Given the description of an element on the screen output the (x, y) to click on. 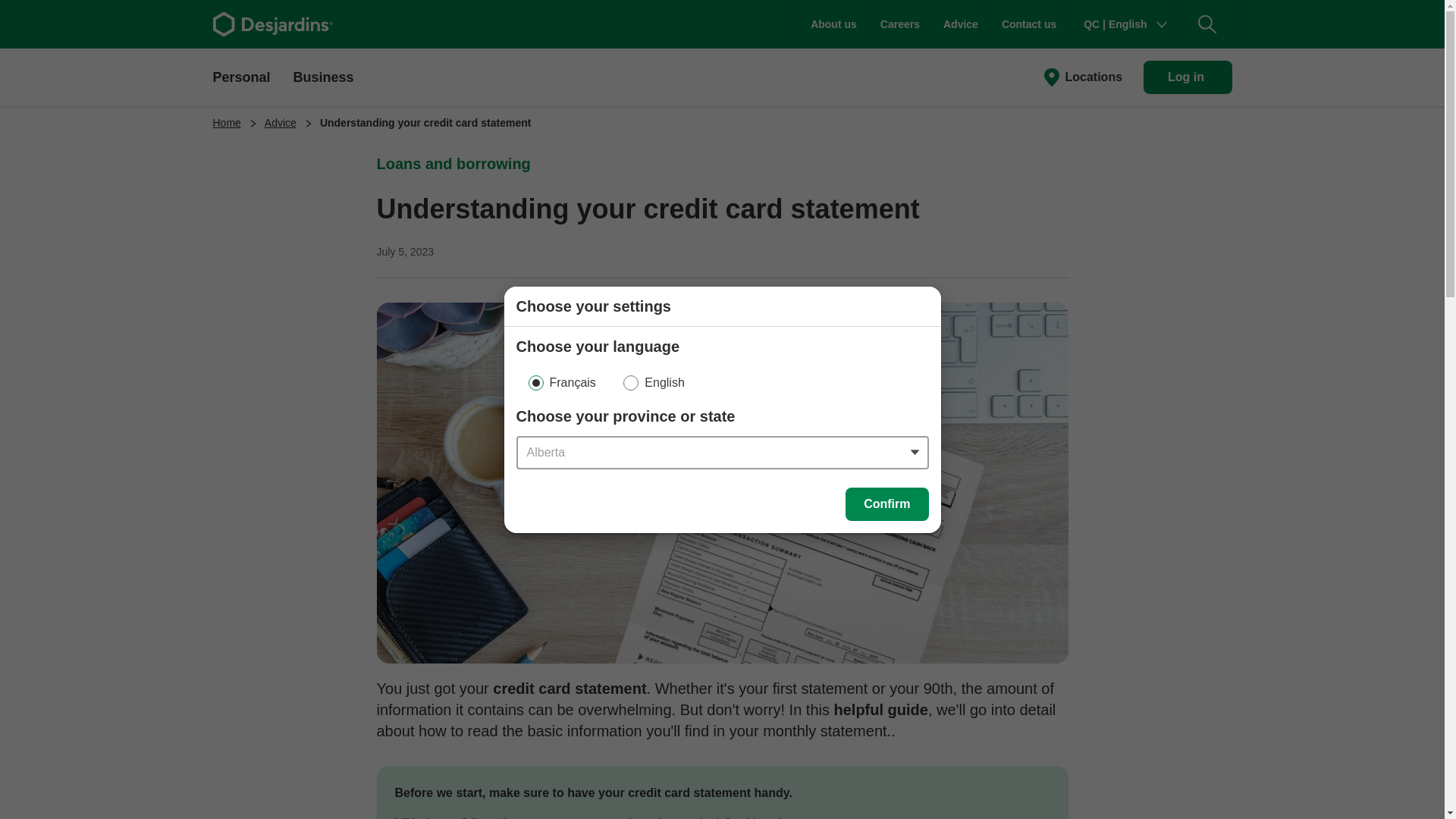
Advice (960, 24)
About us (833, 24)
Business (323, 76)
Careers (900, 24)
Search (1206, 24)
Contact us (1028, 24)
Personal (240, 76)
